Given the description of an element on the screen output the (x, y) to click on. 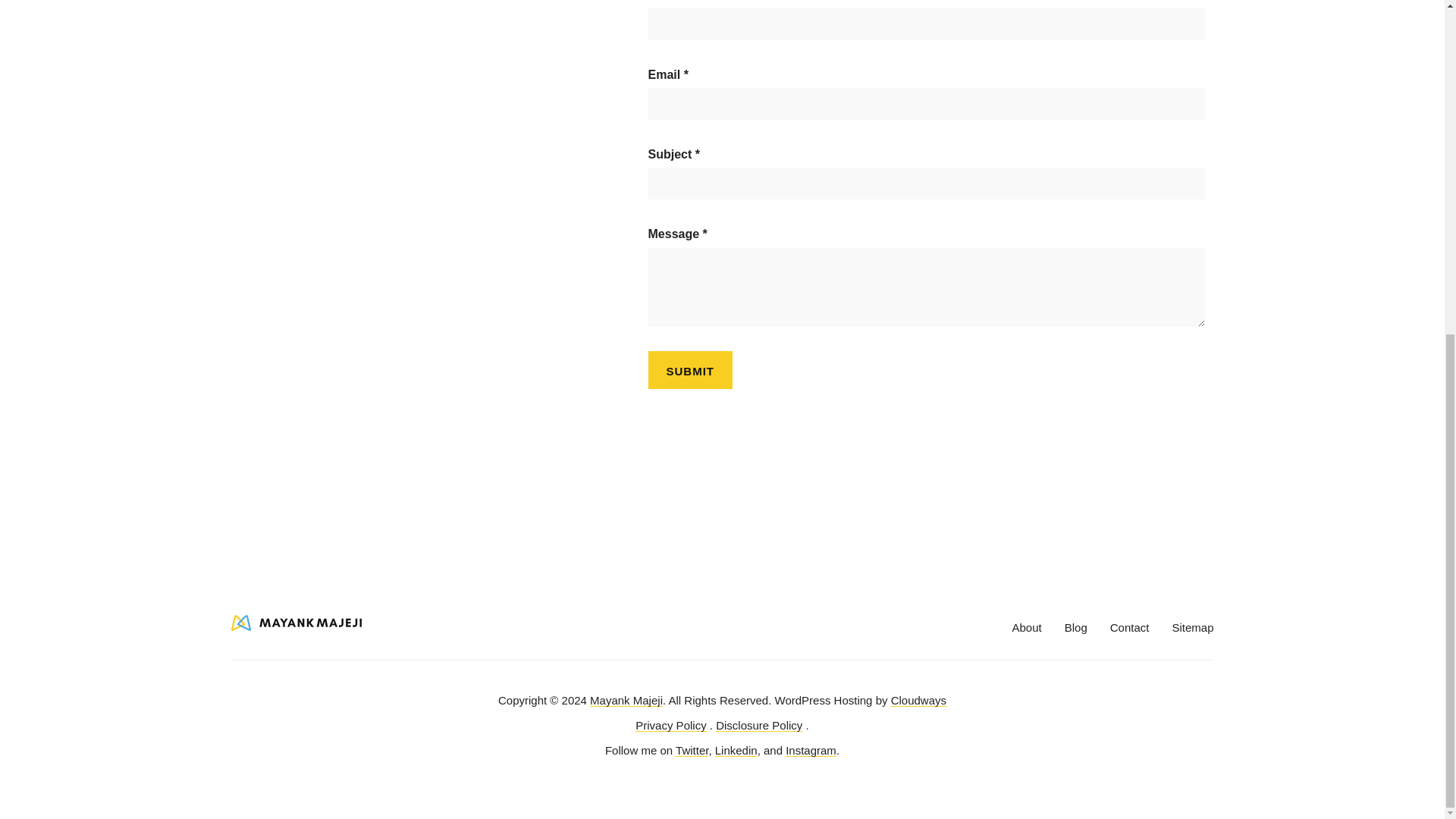
Disclosure Policy (759, 725)
Contact (1129, 626)
Sitemap (1192, 626)
Twitter (691, 749)
Blog (1075, 626)
Mayank Majeji (625, 699)
Privacy Policy (670, 725)
Cloudways (918, 699)
Disclosure Policy (759, 725)
Cloudways (918, 699)
Instagram (810, 749)
Privacy Policy (670, 725)
Linkedin (735, 749)
SUBMIT (690, 370)
About (1026, 626)
